Given the description of an element on the screen output the (x, y) to click on. 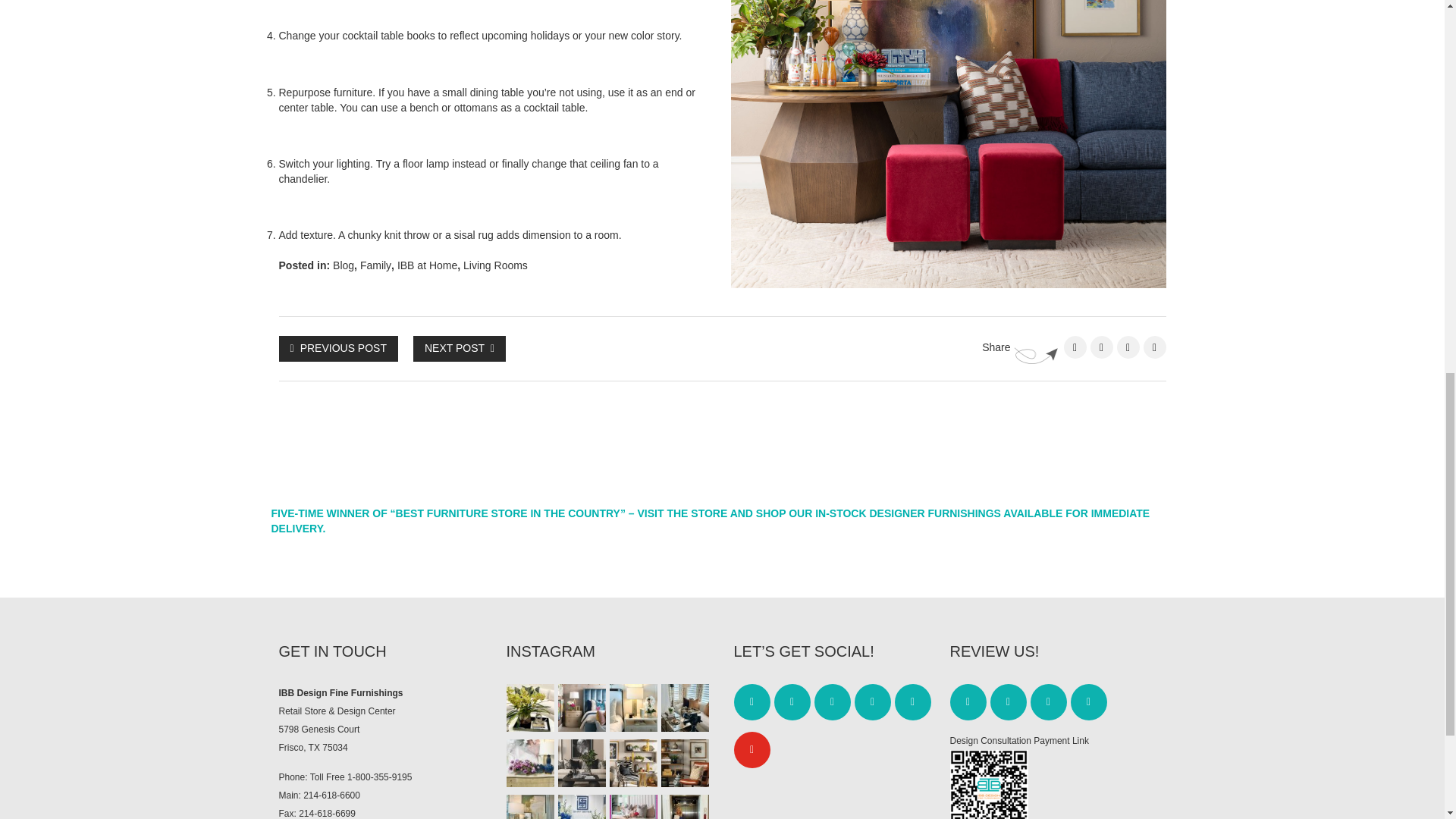
Facebook (1074, 346)
Twitter (1101, 346)
Google Plus (1154, 346)
Pinterest (1127, 346)
